Given the description of an element on the screen output the (x, y) to click on. 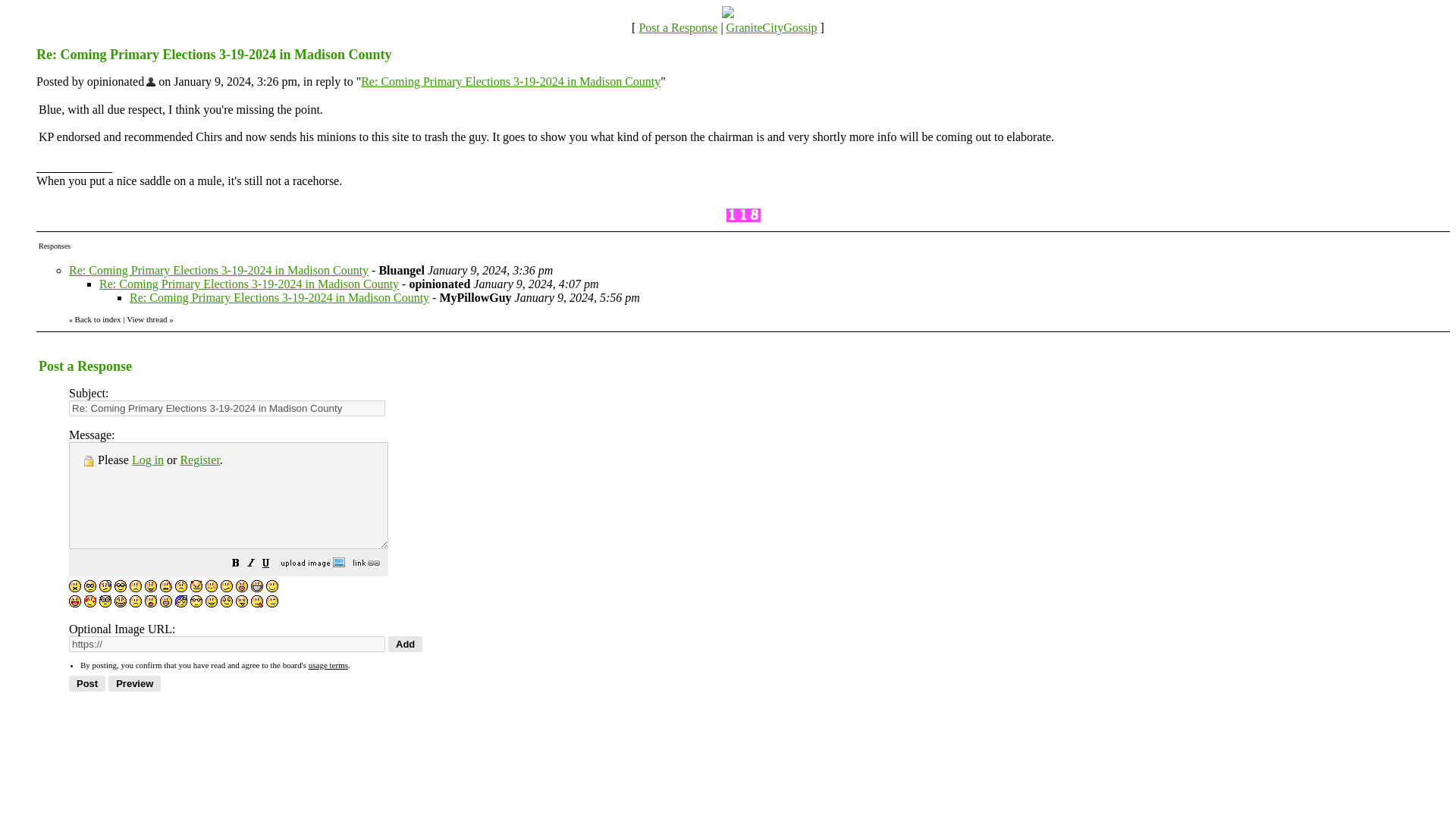
Back to index (97, 319)
Upload Image (312, 563)
Re: Coming Primary Elections 3-19-2024 in Madison County (218, 269)
Preview (133, 683)
GraniteCityGossip (771, 27)
Re: Coming Primary Elections 3-19-2024 in Madison County (248, 283)
Post a Response (678, 27)
Post (86, 683)
Re: Coming Primary Elections 3-19-2024 in Madison County (511, 81)
Add (405, 643)
